Given the description of an element on the screen output the (x, y) to click on. 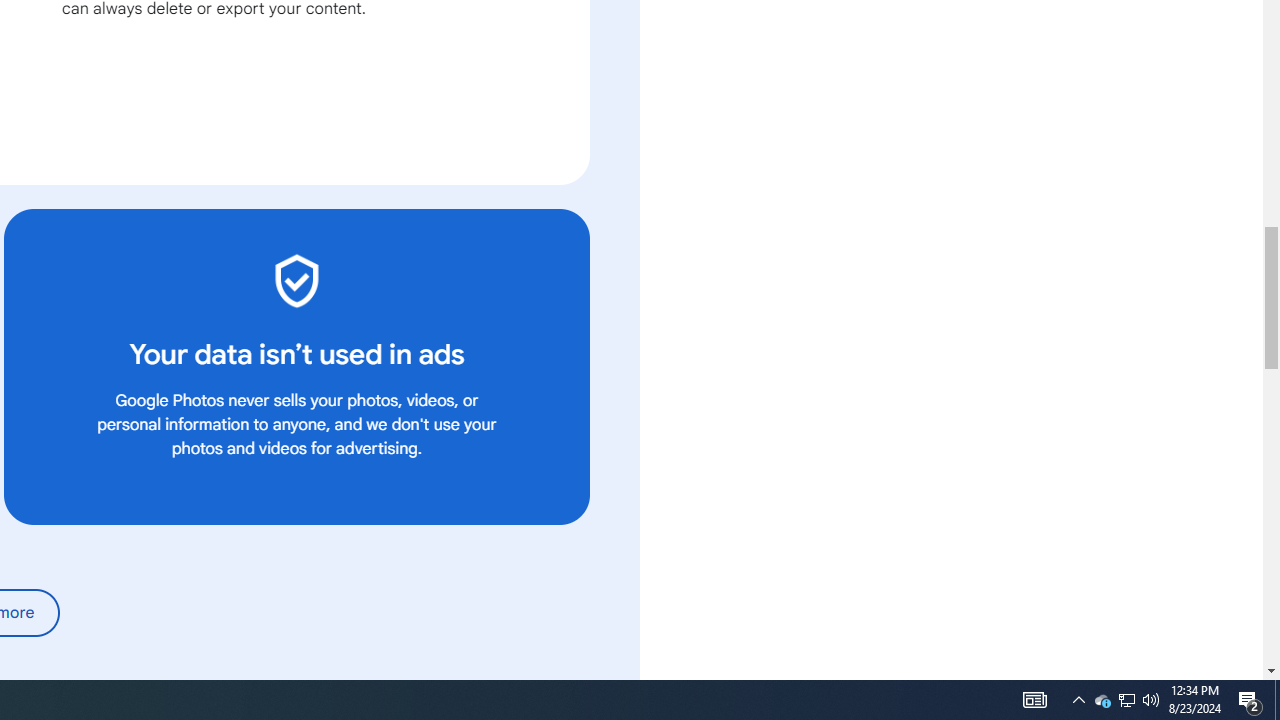
A checkmark icon. (295, 280)
